Given the description of an element on the screen output the (x, y) to click on. 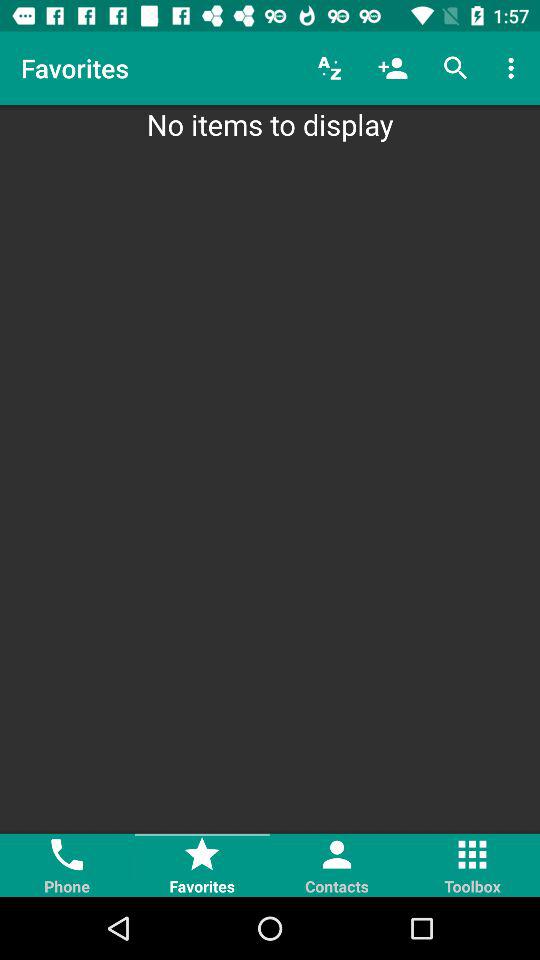
press icon above no items to item (455, 67)
